Given the description of an element on the screen output the (x, y) to click on. 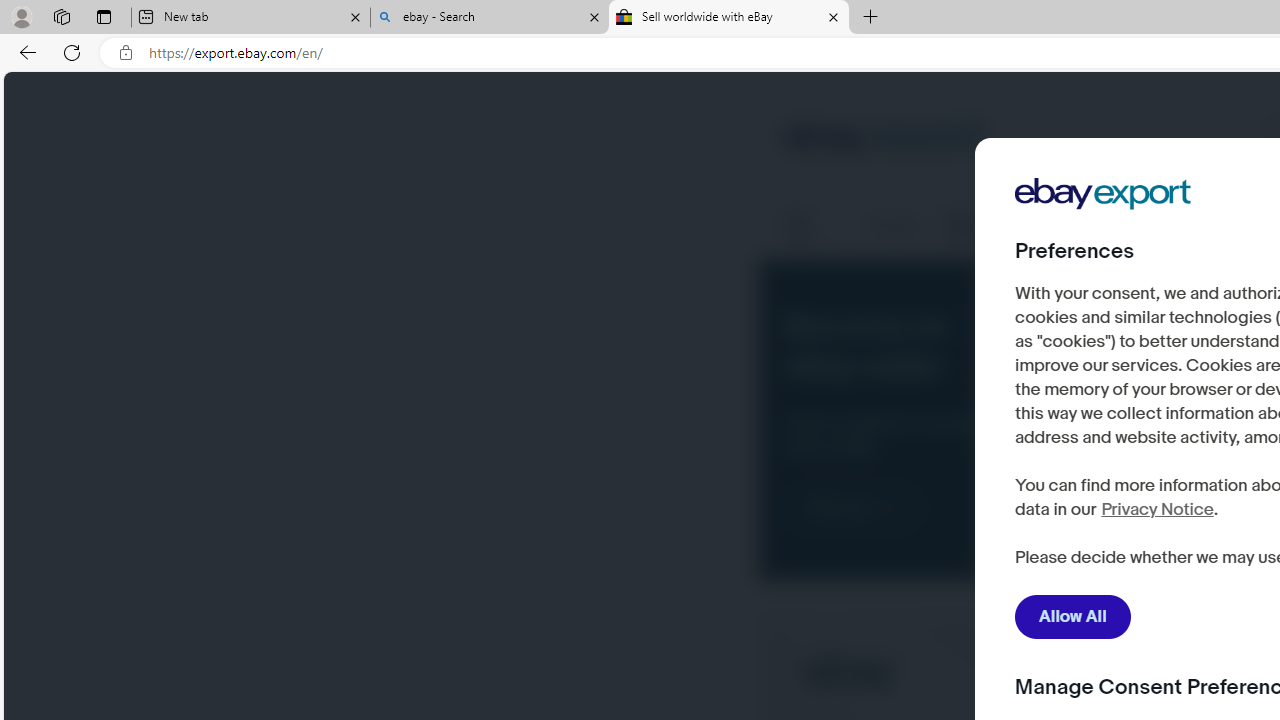
Ebay Export (1110, 255)
First steps (812, 225)
Customise my choices (1135, 559)
Allow All (1073, 617)
Find out (852, 507)
Manage listings (989, 225)
Class: btn__arrow (890, 507)
here (1109, 500)
